Given the description of an element on the screen output the (x, y) to click on. 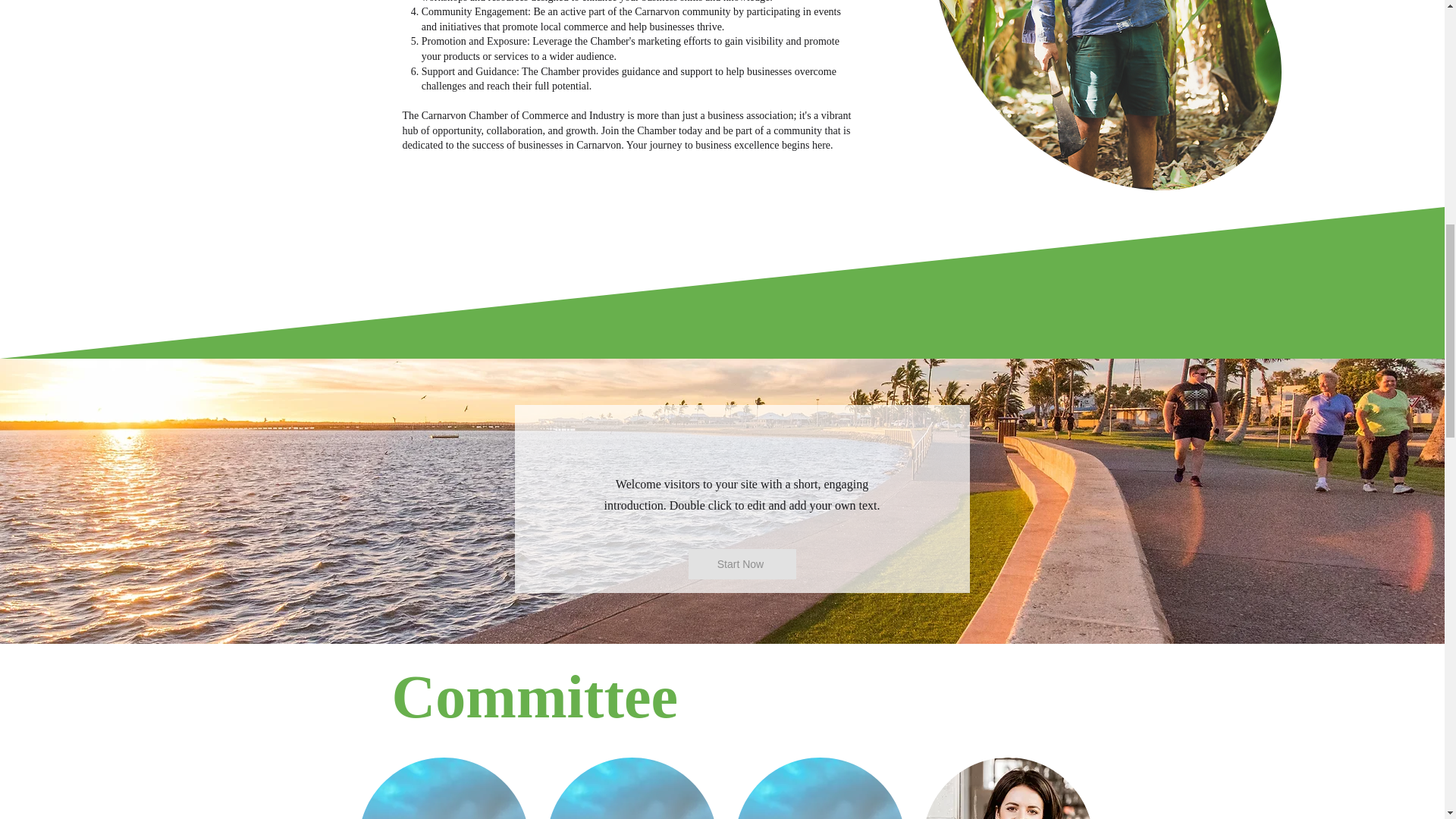
Start Now (742, 563)
